Given the description of an element on the screen output the (x, y) to click on. 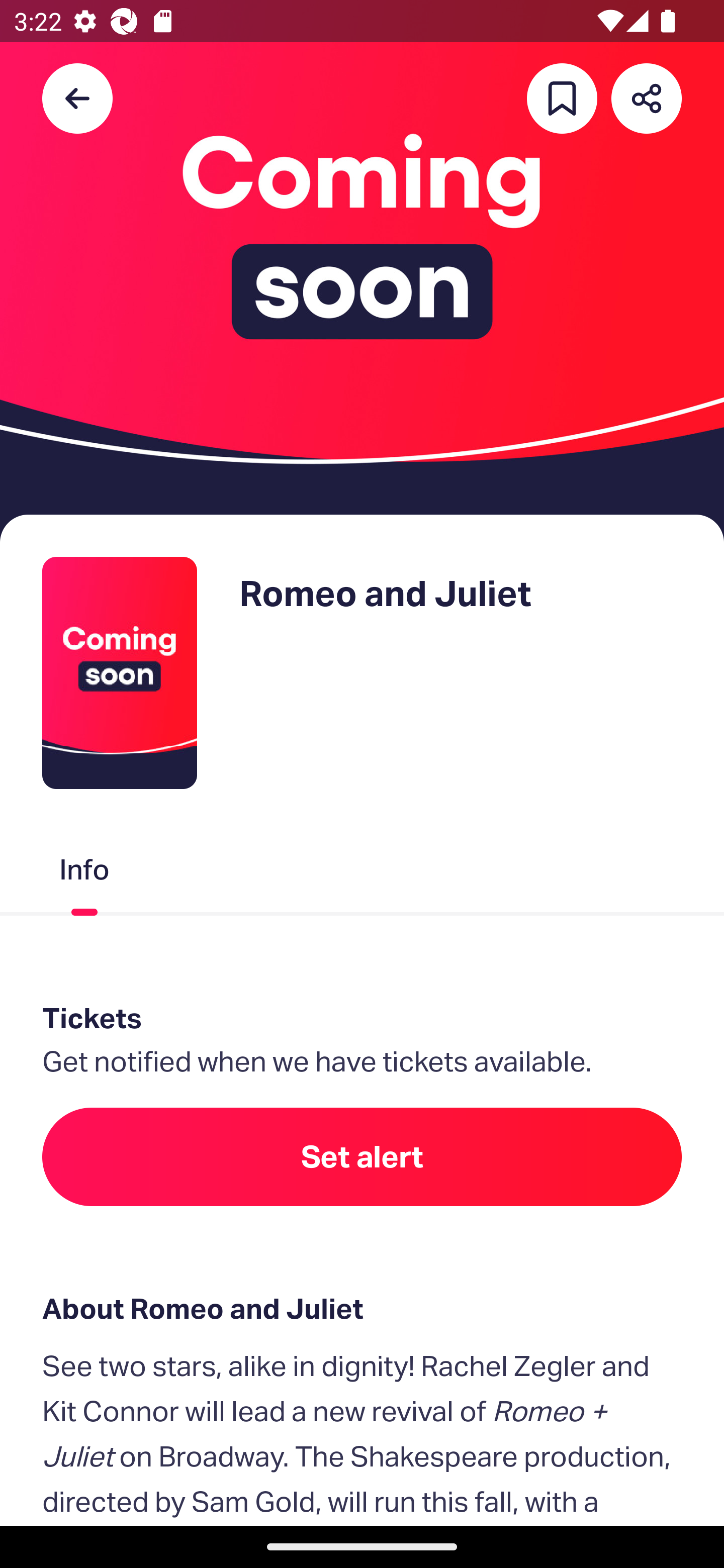
Set alert (361, 1156)
About Romeo and Juliet (361, 1308)
